Given the description of an element on the screen output the (x, y) to click on. 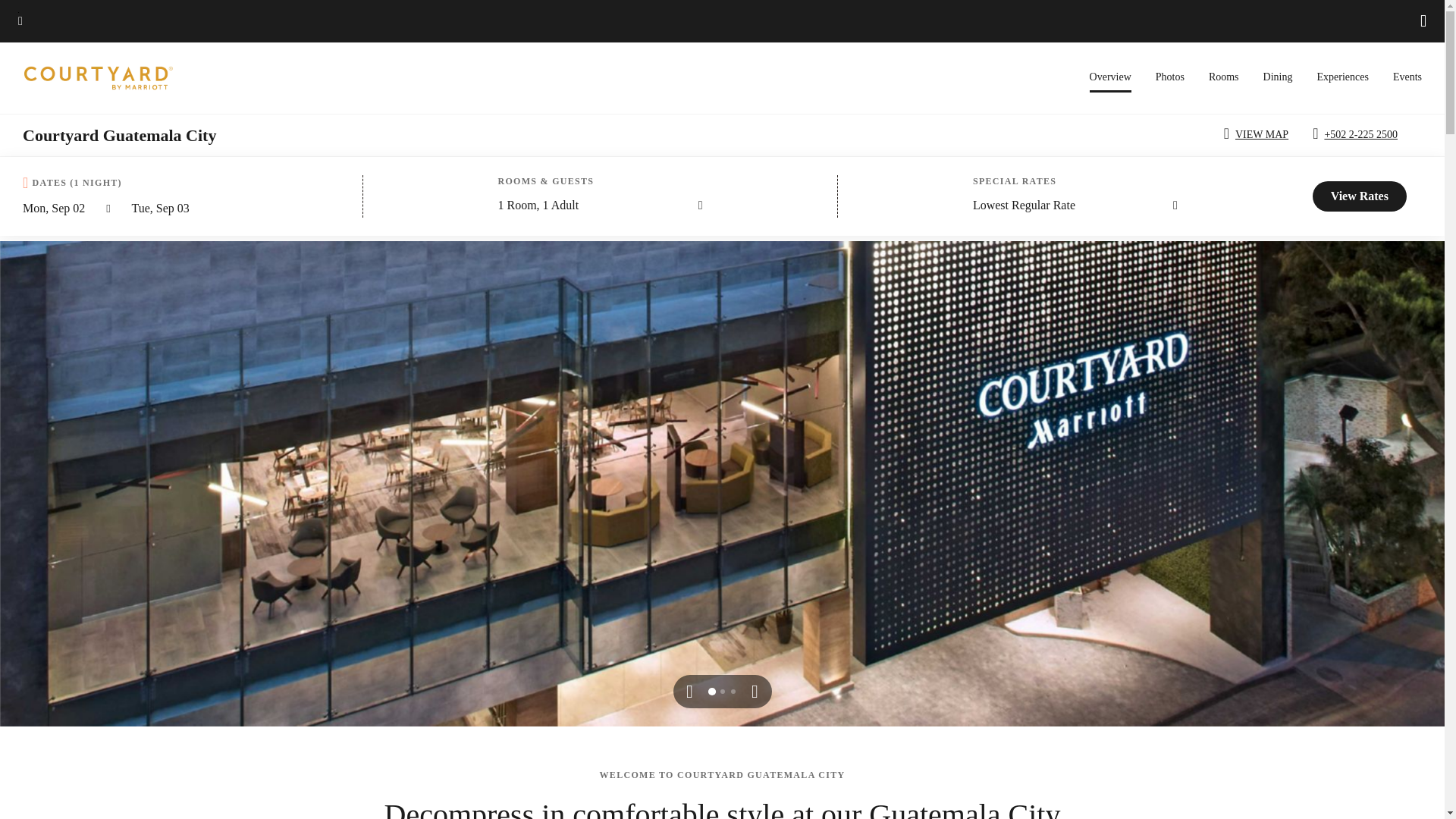
Experiences (1342, 76)
Overview (1110, 81)
Photos (1170, 76)
Dining (1277, 76)
VIEW MAP (1258, 134)
Rooms (1223, 76)
Events (1407, 76)
